Given the description of an element on the screen output the (x, y) to click on. 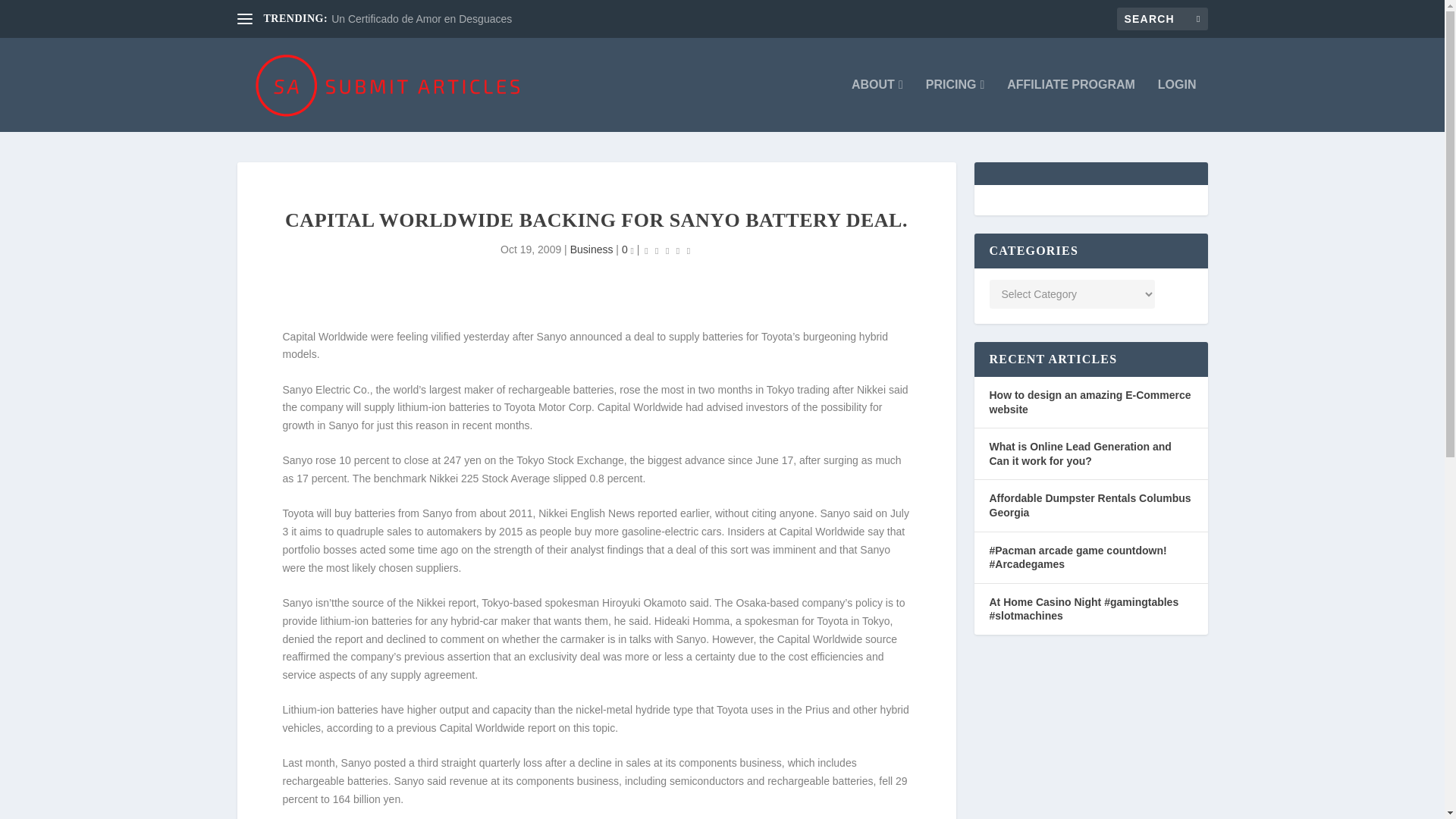
ABOUT (876, 104)
Un Certificado de Amor en Desguaces (421, 19)
Search for: (1161, 18)
Rating: 0.00 (667, 250)
